Given the description of an element on the screen output the (x, y) to click on. 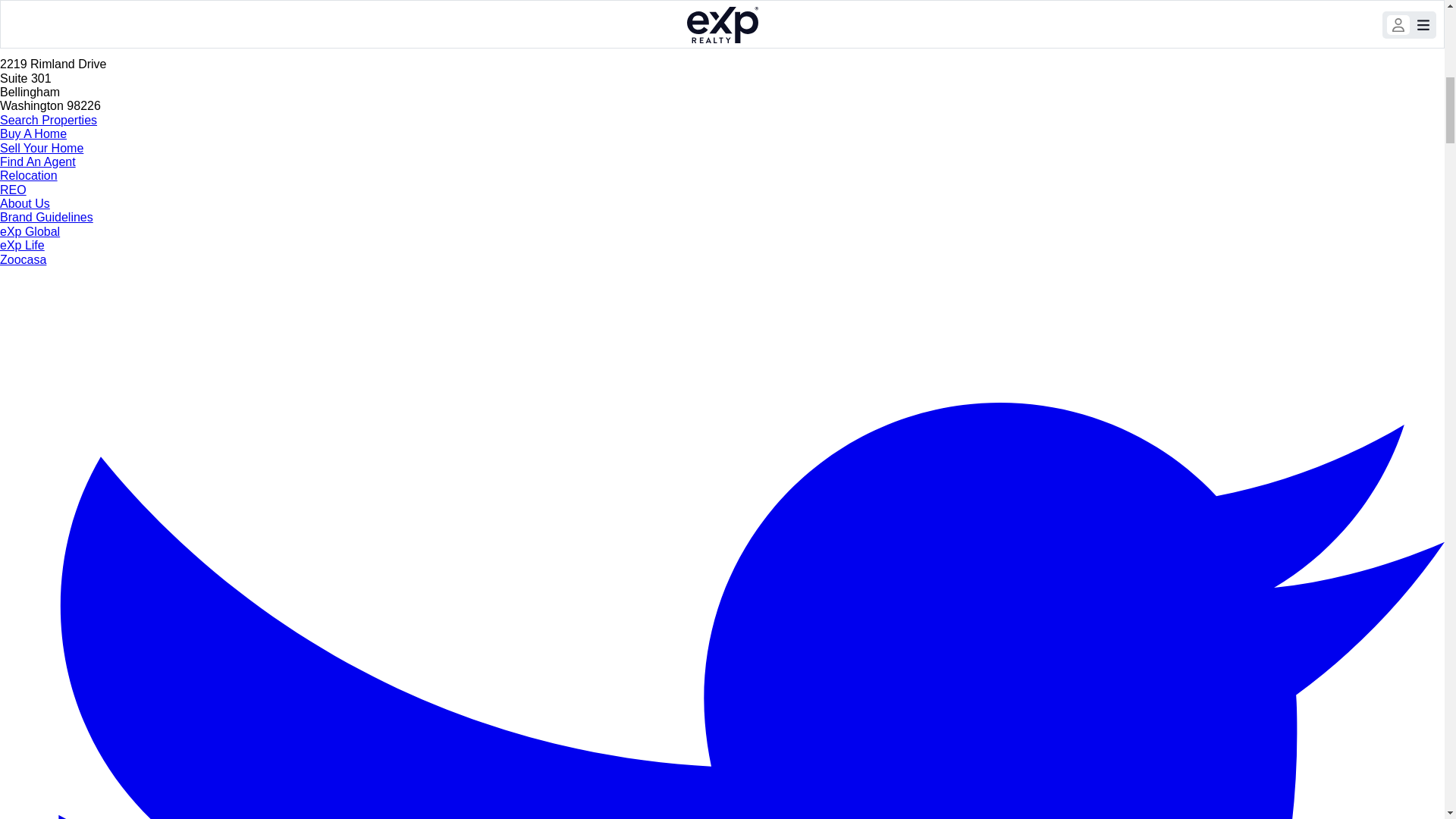
eXp Life (22, 245)
REO (13, 189)
eXp Global (29, 231)
Search Properties (48, 119)
Buy A Home (33, 133)
Sell Your Home (41, 146)
Zoocasa (23, 259)
About Us (24, 203)
Relocation (29, 174)
Find An Agent (37, 161)
Brand Guidelines (46, 216)
